Given the description of an element on the screen output the (x, y) to click on. 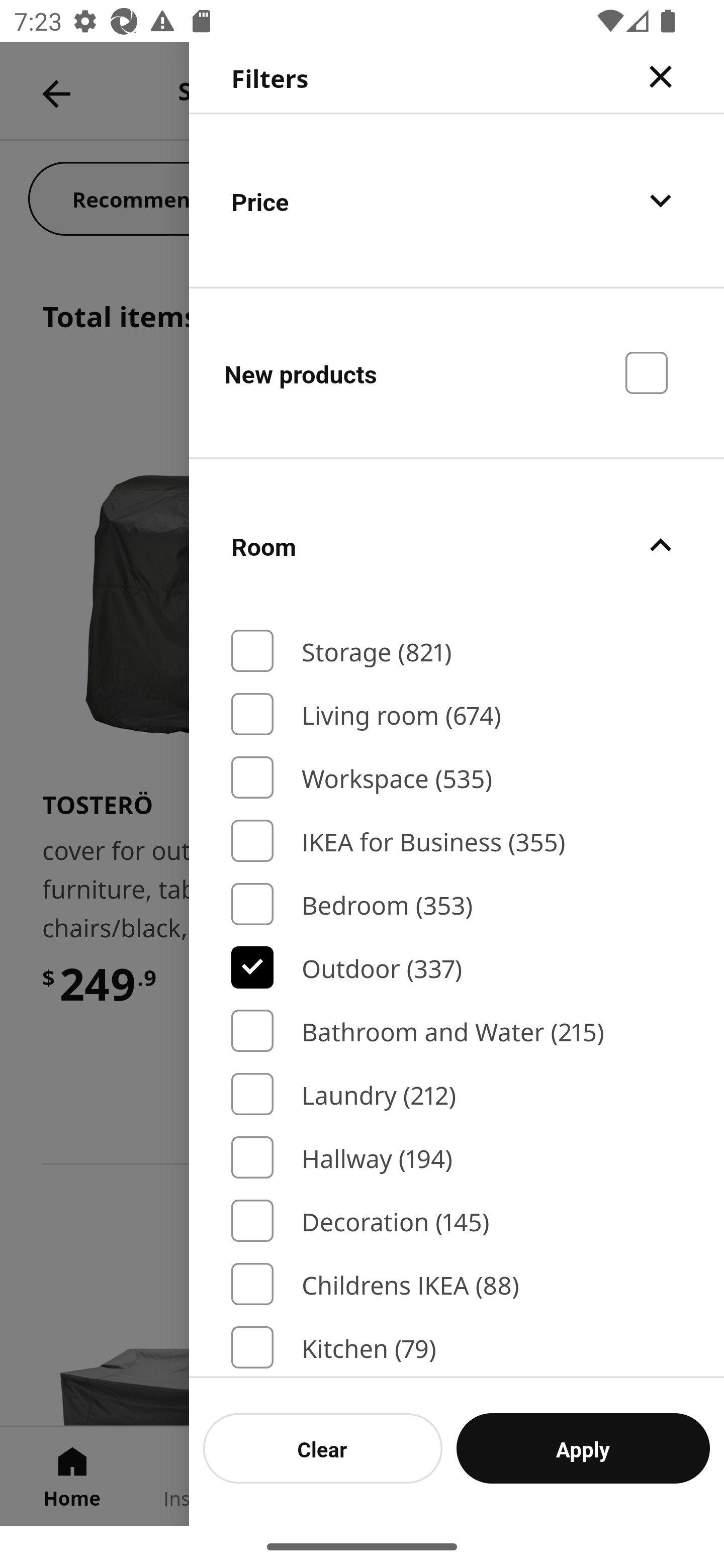
Price (456, 200)
New products (456, 371)
Room (456, 545)
Storage (821) (456, 651)
Living room (674) (456, 714)
Workspace (535) (456, 776)
IKEA for Business (355) (456, 841)
Bedroom (353) (456, 903)
Outdoor (337) (456, 967)
Bathroom and Water (215) (456, 1030)
Laundry (212) (456, 1093)
Hallway (194) (456, 1157)
Decoration (145) (456, 1220)
Childrens IKEA (88) (456, 1283)
Kitchen (79) (456, 1347)
Clear (322, 1447)
Apply (583, 1447)
